Given the description of an element on the screen output the (x, y) to click on. 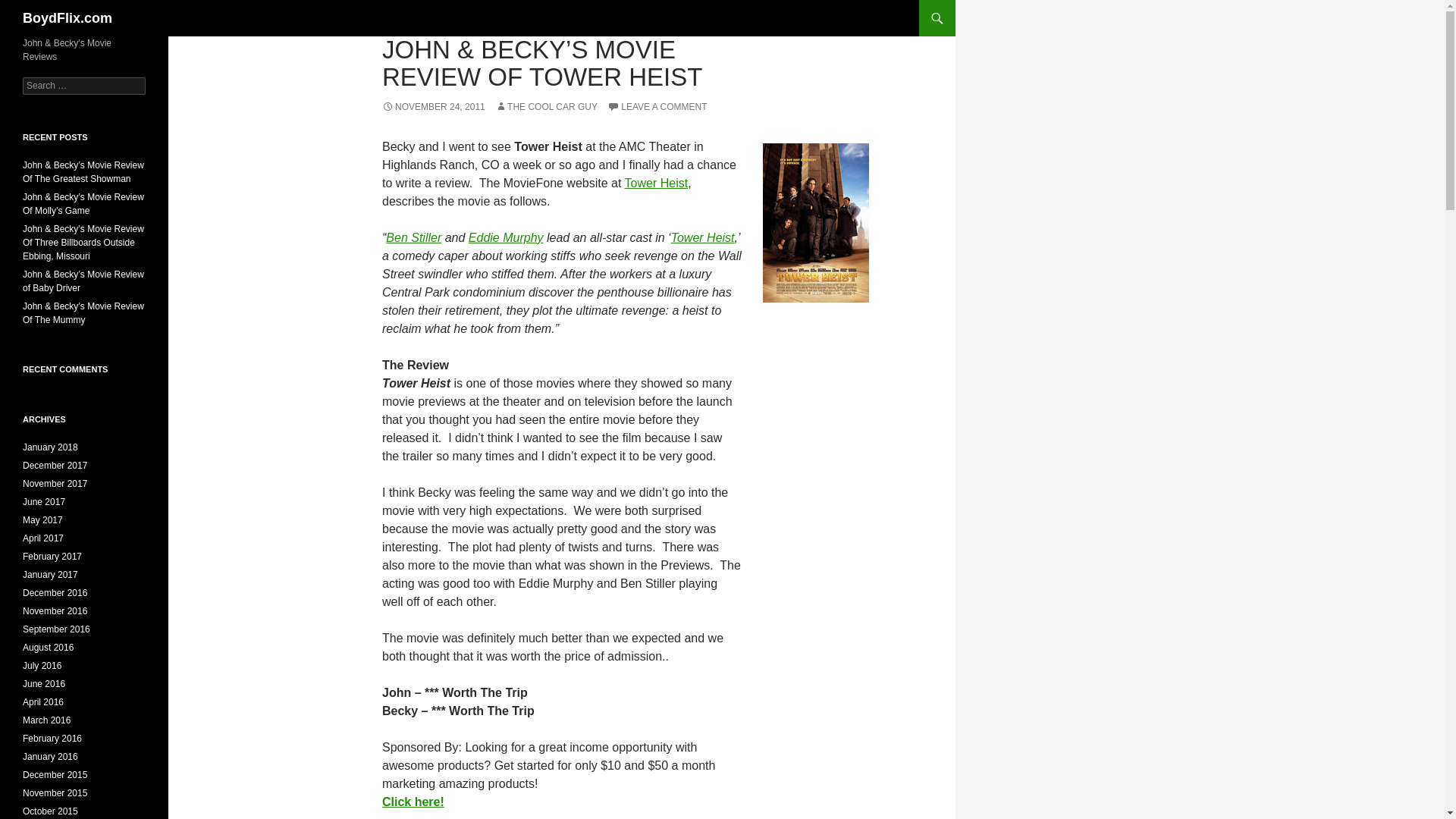
December 2016 (55, 593)
Click here! (412, 801)
November 2017 (55, 483)
June 2017 (44, 501)
Tower Heist (656, 182)
THE COOL CAR GUY (545, 106)
November 2016 (55, 611)
February 2017 (52, 556)
Ben Stiller (413, 237)
May 2017 (42, 520)
